Given the description of an element on the screen output the (x, y) to click on. 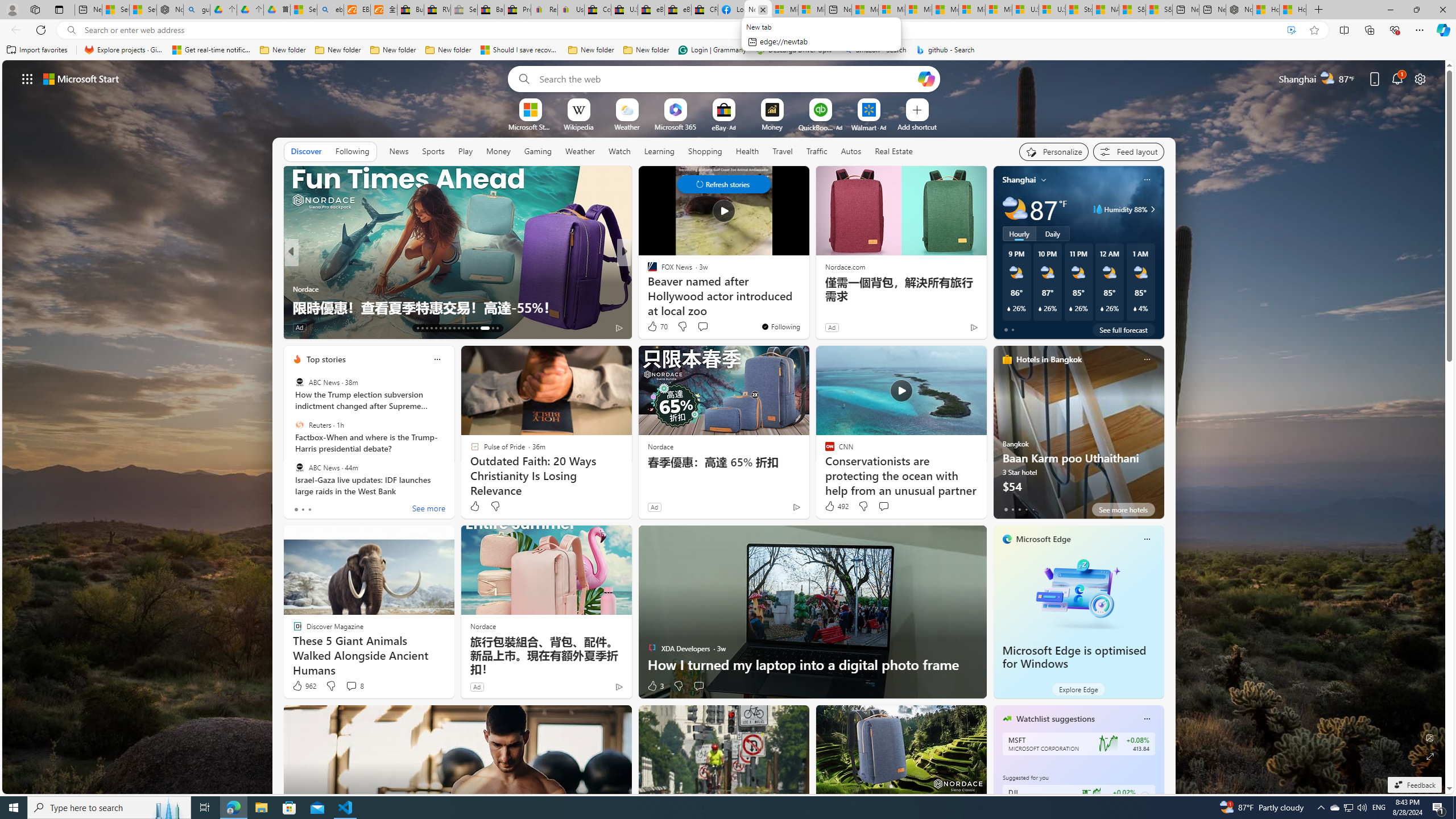
Like (474, 505)
S&P 500, Nasdaq end lower, weighed by Nvidia dip | Watch (1159, 9)
github - Search (945, 49)
Nordace.com (845, 266)
Traffic (816, 151)
Partly cloudy (1014, 208)
Address and search bar (680, 29)
Consumer Health Data Privacy Policy - eBay Inc. (597, 9)
Search icon (70, 29)
AutomationID: tab-21 (454, 328)
29 Like (652, 327)
See more (795, 179)
